Given the description of an element on the screen output the (x, y) to click on. 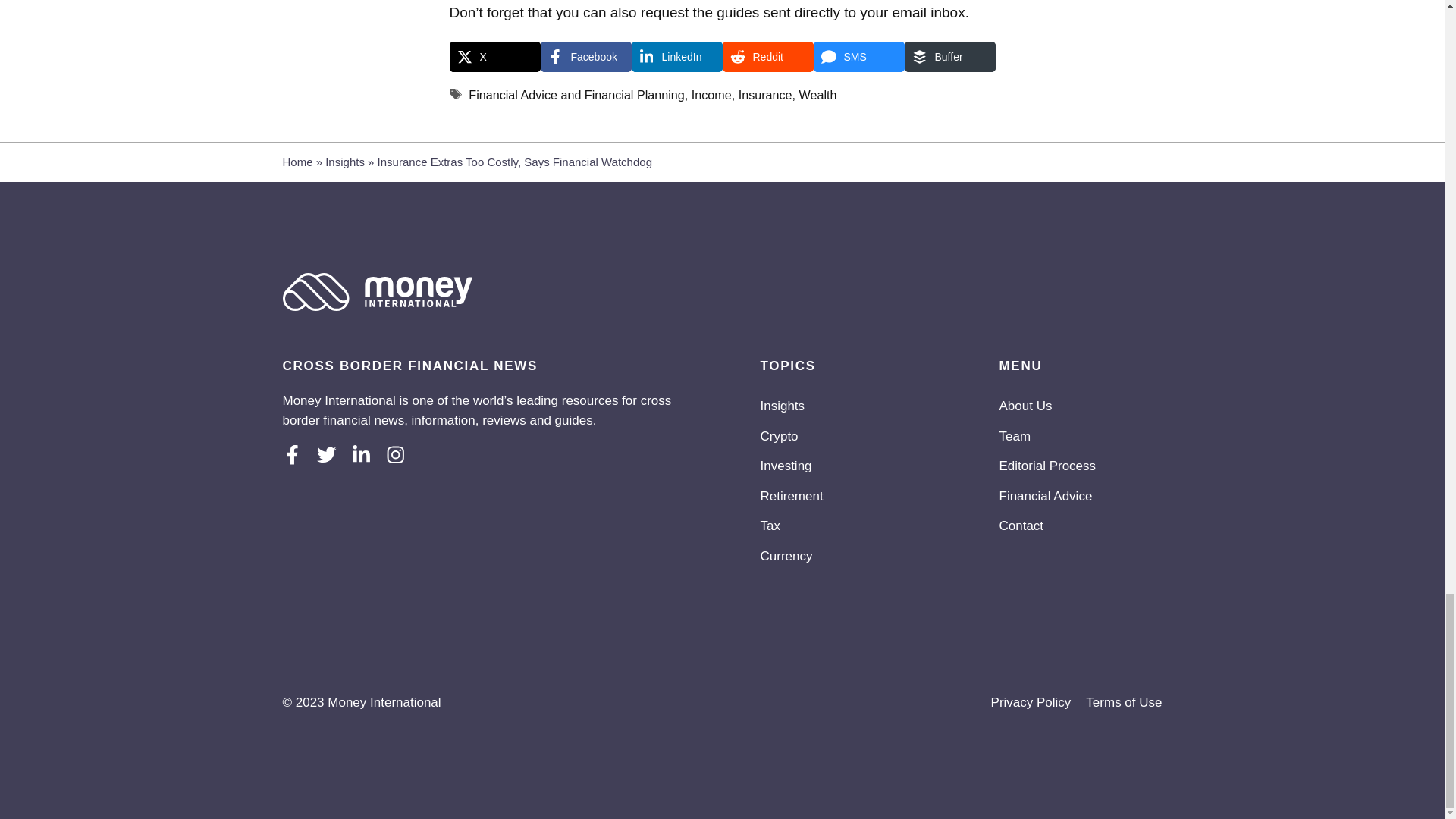
Reddit (767, 56)
LinkedIn (676, 56)
Facebook (585, 56)
X (494, 56)
